Given the description of an element on the screen output the (x, y) to click on. 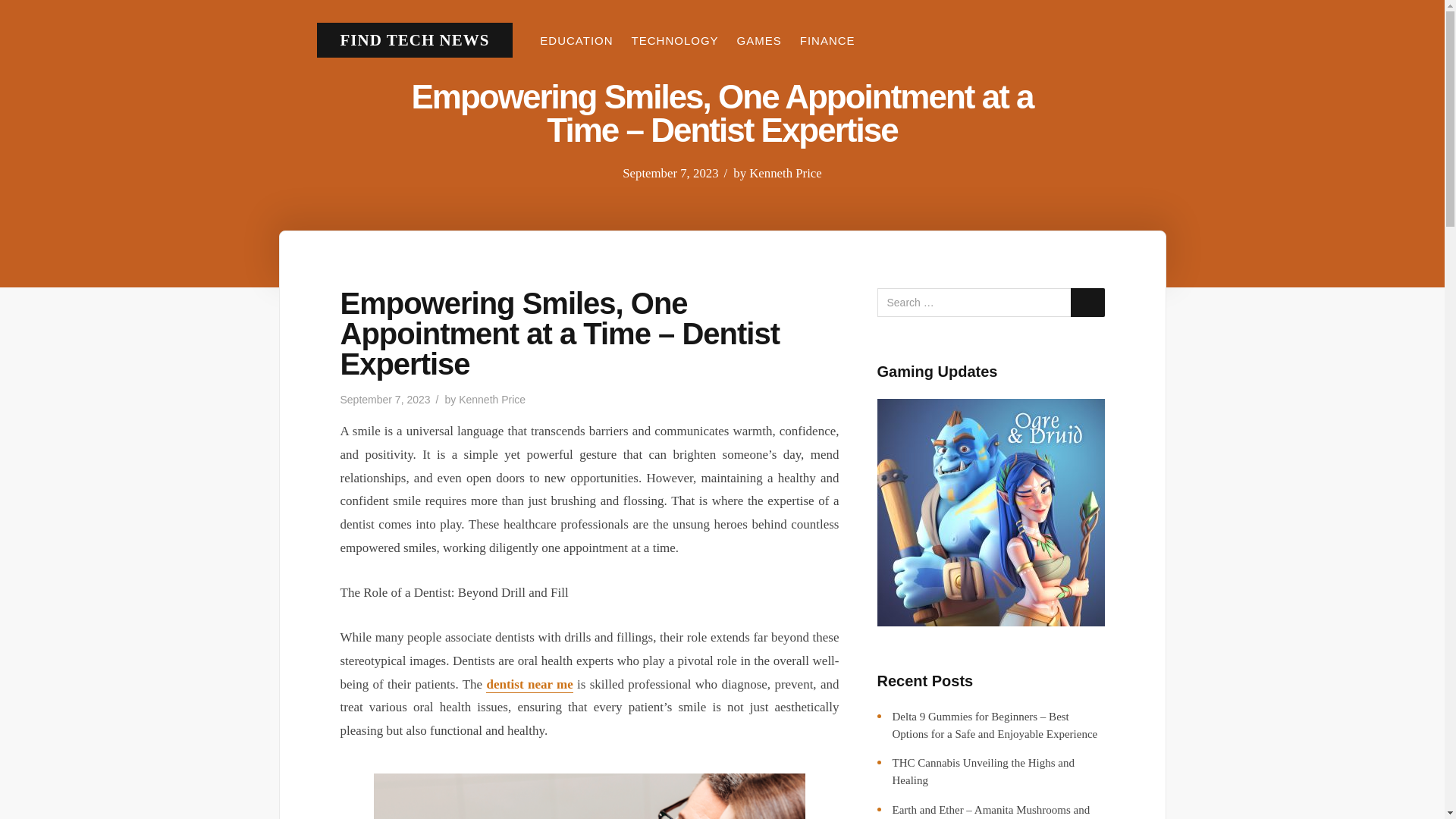
Kenneth Price (785, 173)
September 7, 2023 (670, 173)
Search for: (989, 302)
September 7, 2023 (384, 399)
FINANCE (827, 40)
GAMES (759, 40)
EDUCATION (575, 40)
TECHNOLOGY (674, 40)
dentist near me (529, 684)
FIND TECH NEWS (414, 40)
